Given the description of an element on the screen output the (x, y) to click on. 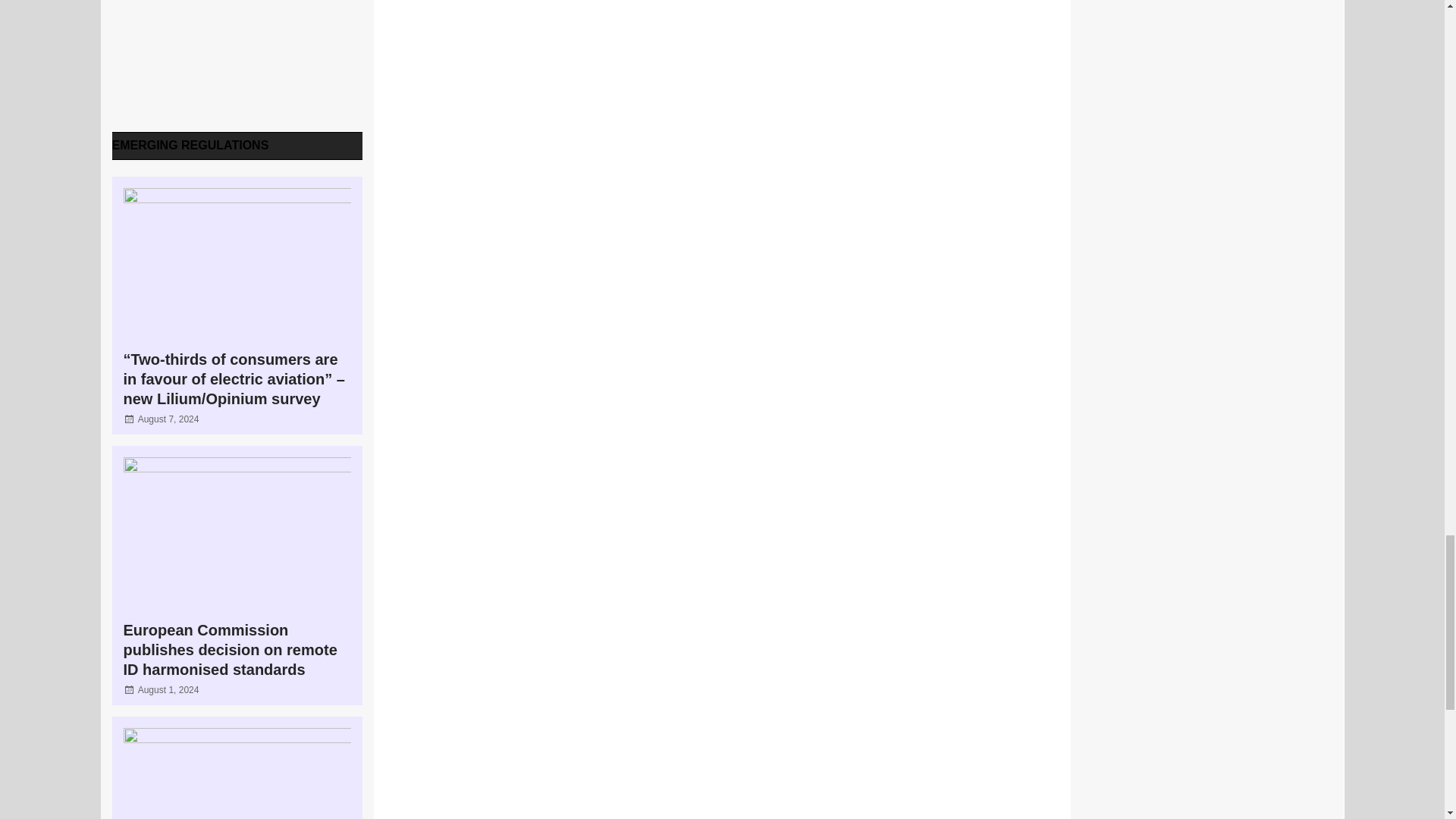
3:01 pm (168, 689)
11:14 am (168, 419)
View all posts from category Emerging regulations (190, 144)
